Given the description of an element on the screen output the (x, y) to click on. 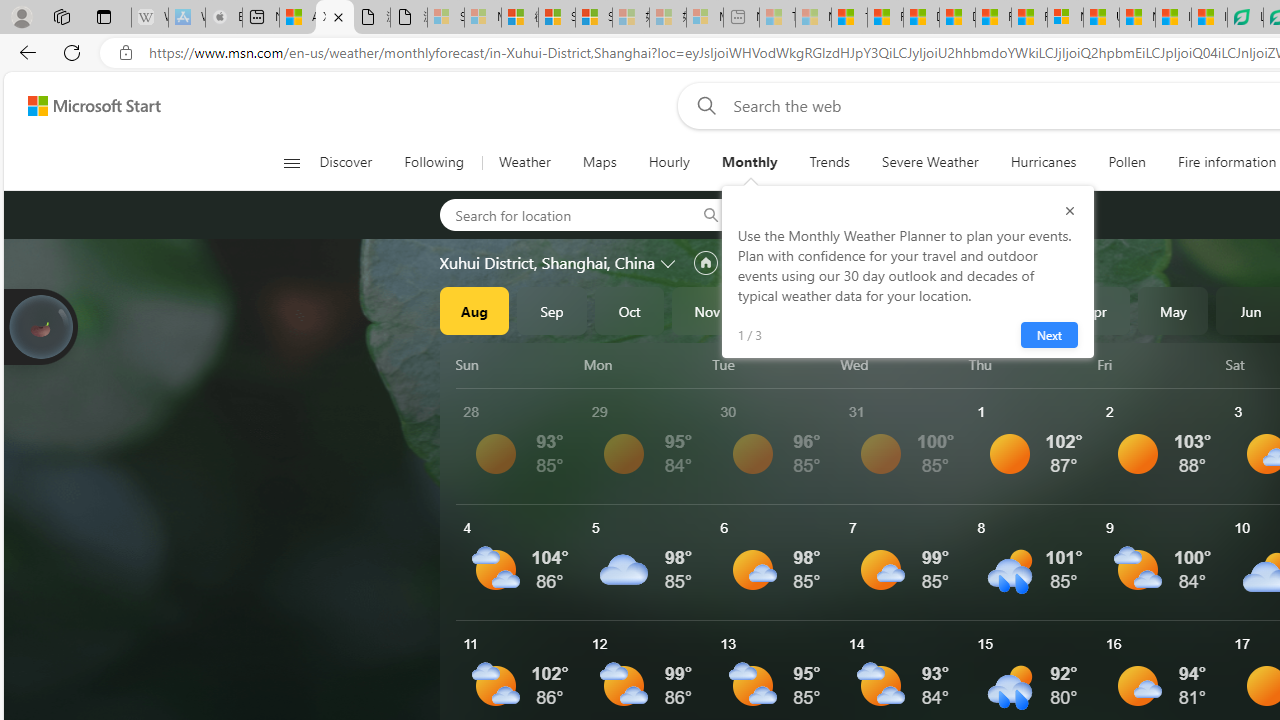
Sign in to your Microsoft account - Sleeping (445, 17)
Tue (772, 363)
Sep (552, 310)
Maps (599, 162)
Change location (669, 262)
May (1173, 310)
Severe Weather (930, 162)
